Given the description of an element on the screen output the (x, y) to click on. 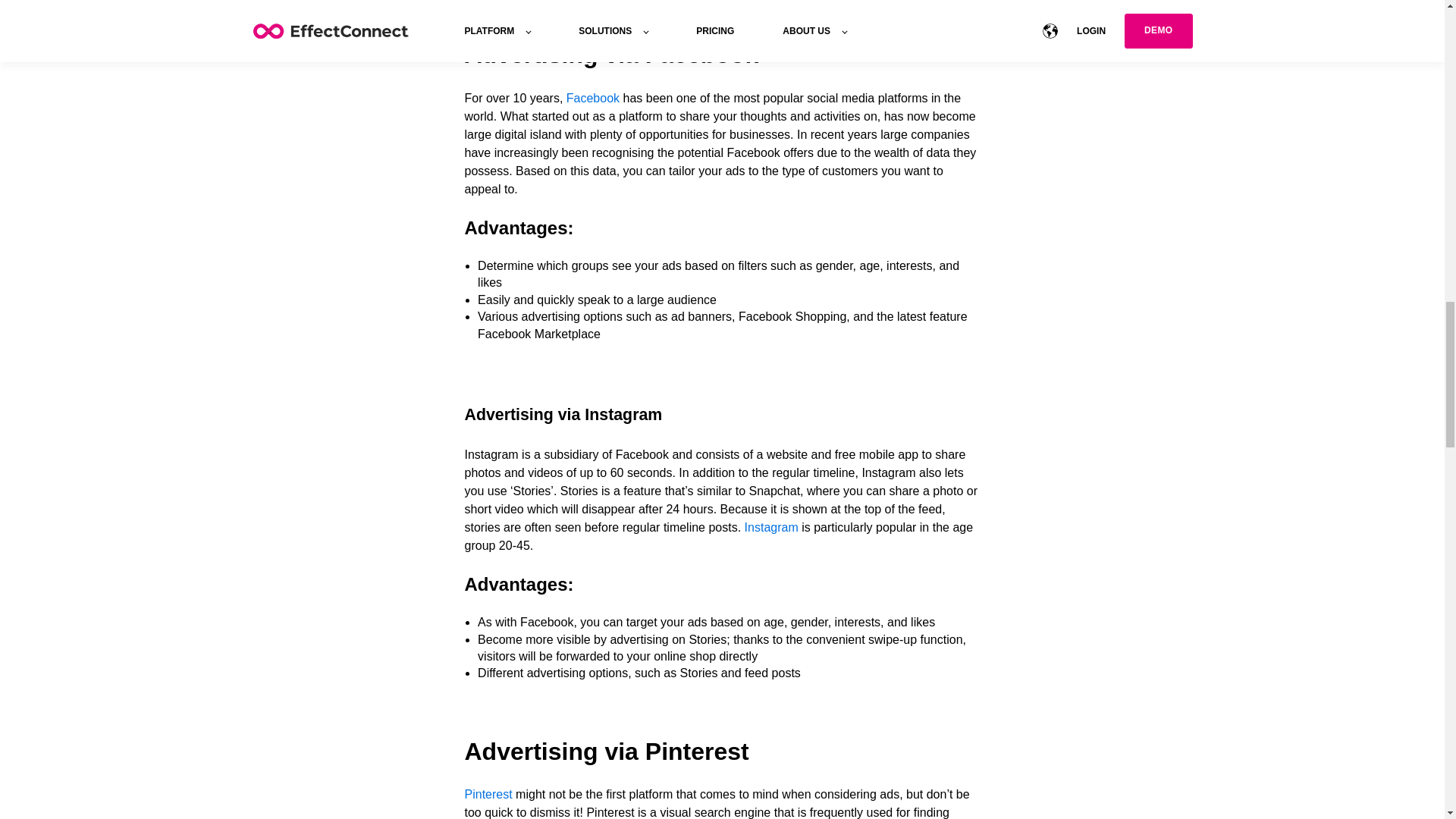
Instagram (770, 526)
Pinterest (489, 793)
Facebook (593, 97)
